Given the description of an element on the screen output the (x, y) to click on. 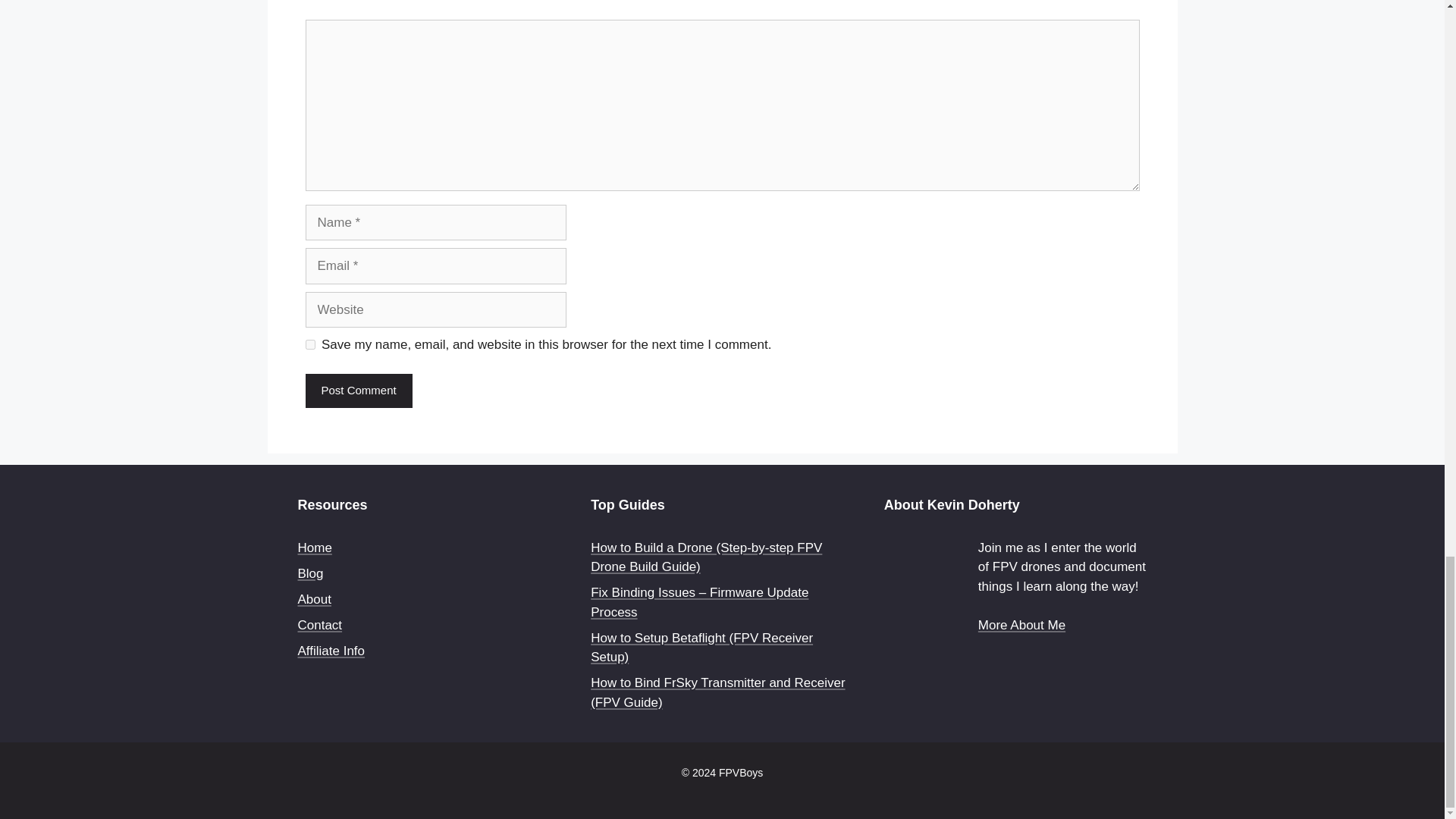
About (313, 599)
More About Me (1021, 625)
Home (314, 547)
Post Comment (358, 390)
yes (309, 344)
Affiliate Info (331, 650)
Contact (319, 625)
Post Comment (358, 390)
Blog (310, 573)
